Given the description of an element on the screen output the (x, y) to click on. 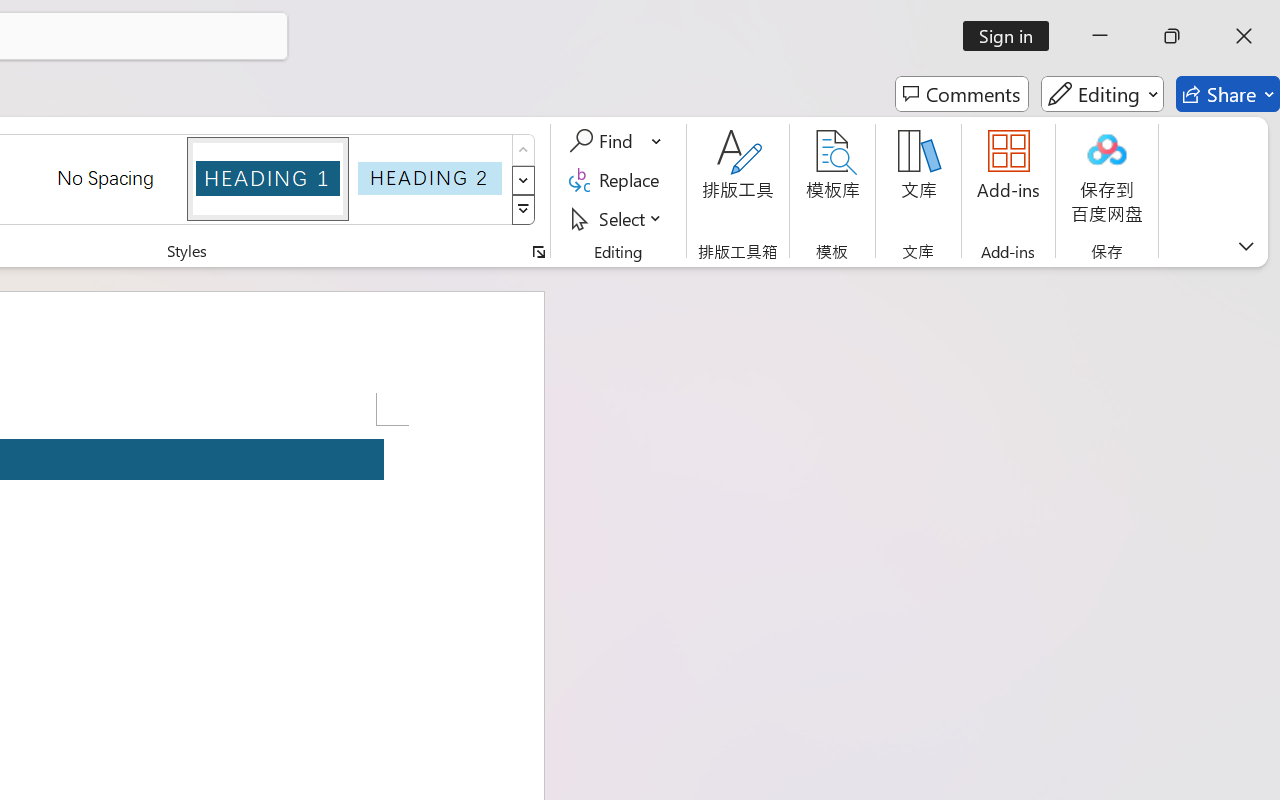
Sign in (1012, 35)
